Given the description of an element on the screen output the (x, y) to click on. 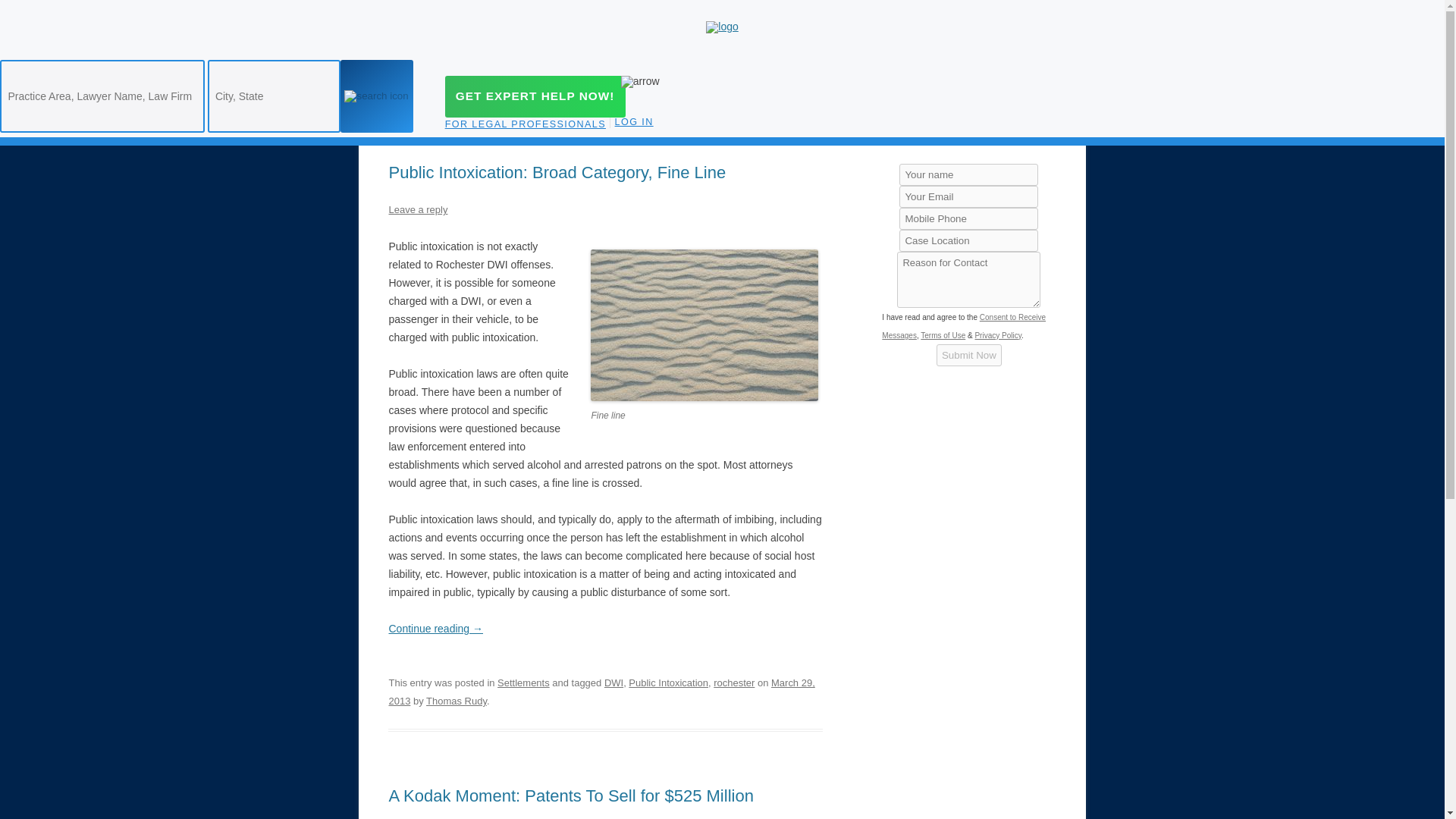
Public Intoxication (667, 682)
Thomas Rudy (456, 700)
1:00 pm (600, 691)
Settlements (523, 682)
rochester (733, 682)
March 29, 2013 (600, 691)
Leave a reply (417, 209)
Public Intoxication: Broad Category, Fine Line (556, 171)
LOG IN (638, 124)
GET EXPERT HELP NOW! (535, 96)
